Given the description of an element on the screen output the (x, y) to click on. 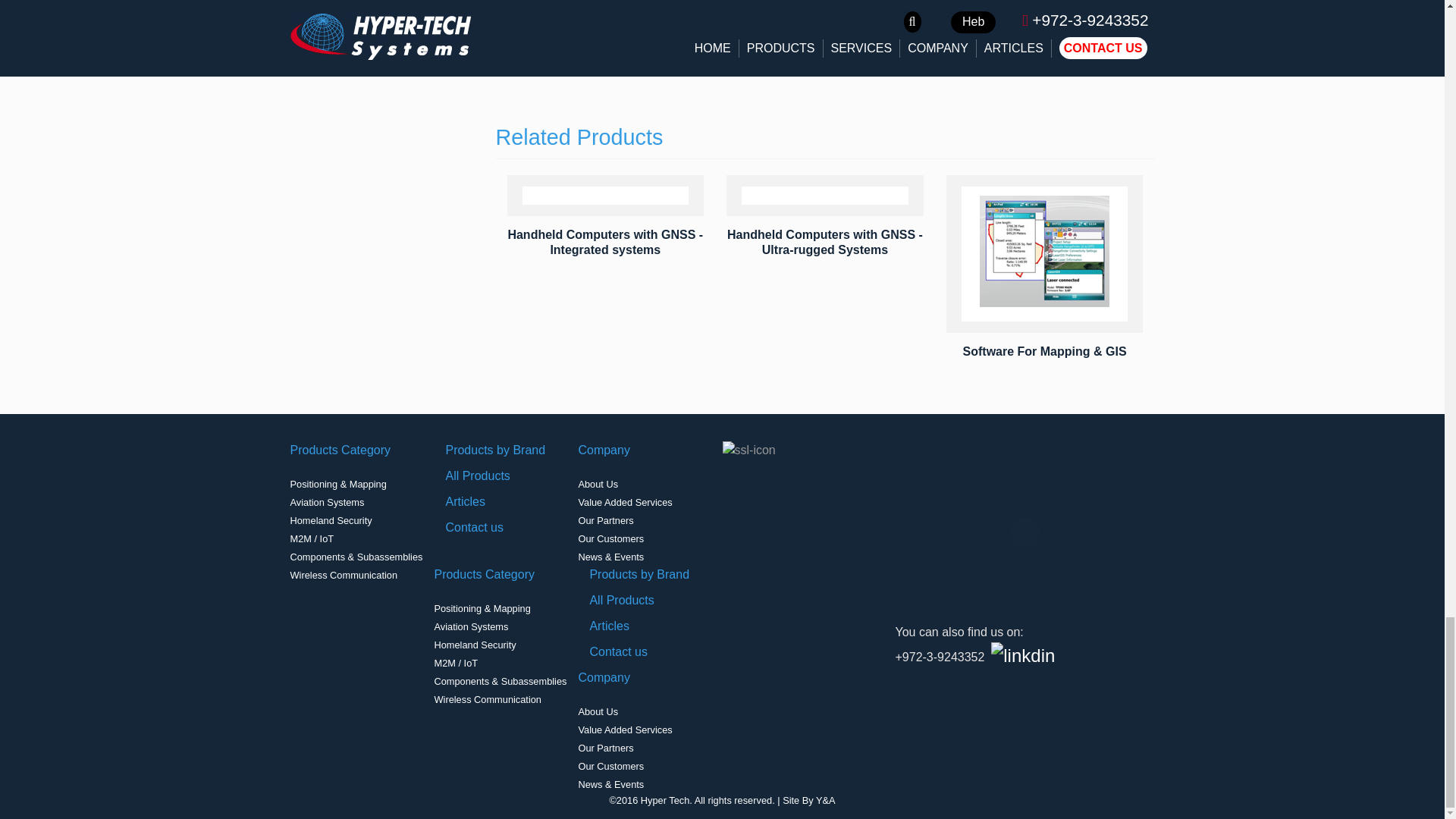
Datasheet (739, 27)
Handheld Computers with GNSS - Ultra-rugged Systems (824, 241)
Handheld Computers with GNSS - Integrated systems (604, 241)
